Given the description of an element on the screen output the (x, y) to click on. 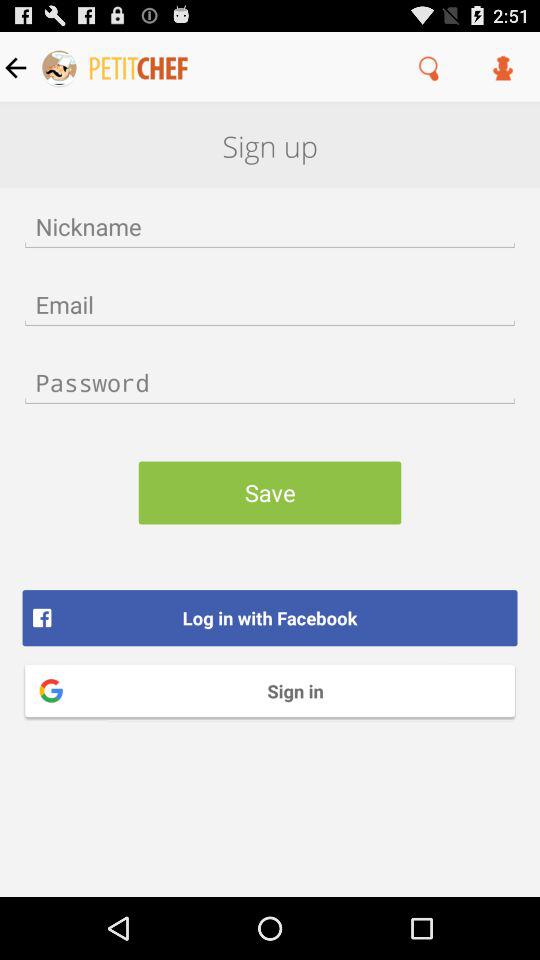
scroll until sign in icon (269, 690)
